Given the description of an element on the screen output the (x, y) to click on. 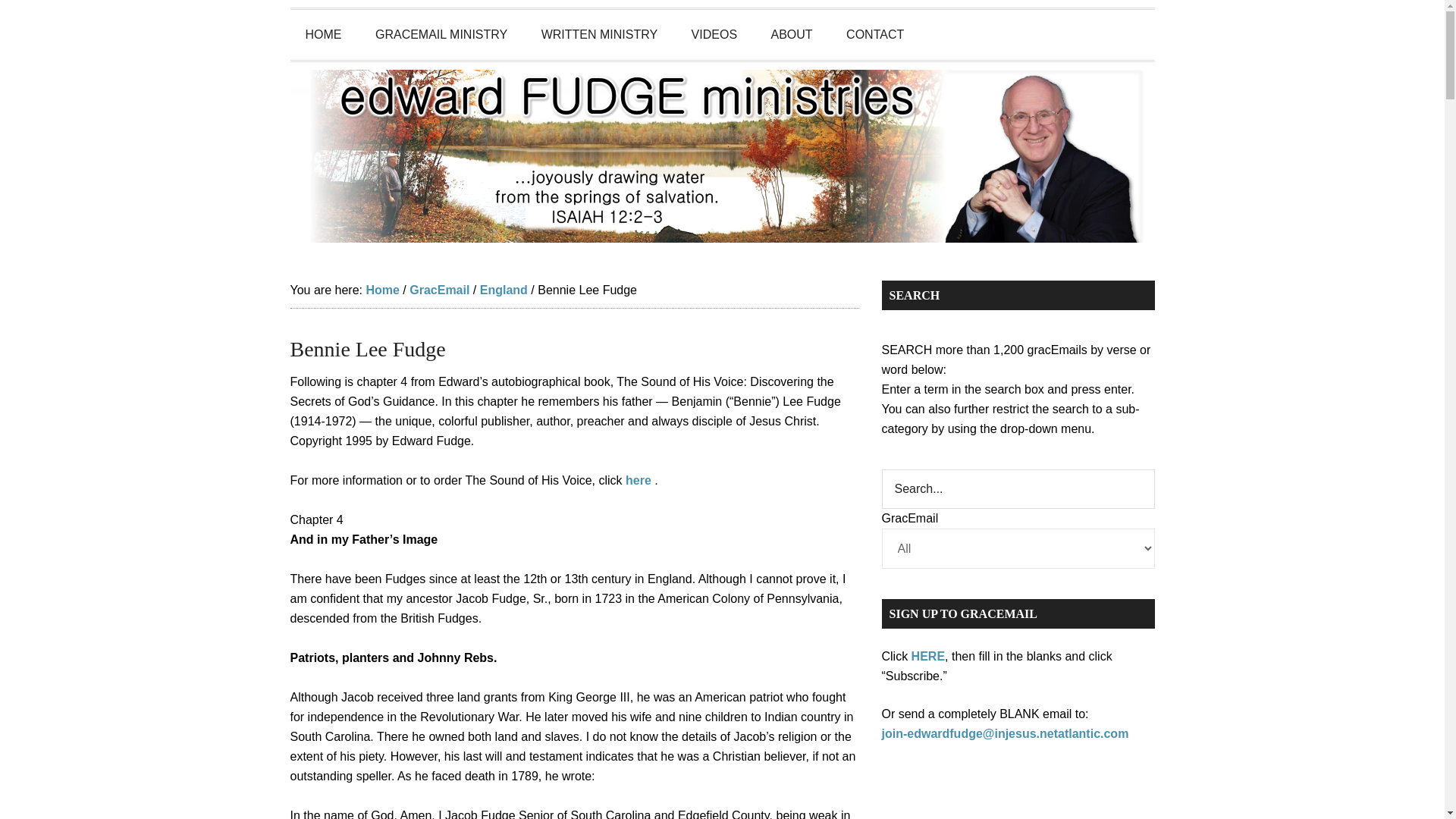
HOME (322, 34)
WRITTEN MINISTRY (598, 34)
Search (1017, 488)
HERE (927, 656)
CONTACT (874, 34)
ABOUT (791, 34)
England (503, 289)
GracEmail (438, 289)
